Given the description of an element on the screen output the (x, y) to click on. 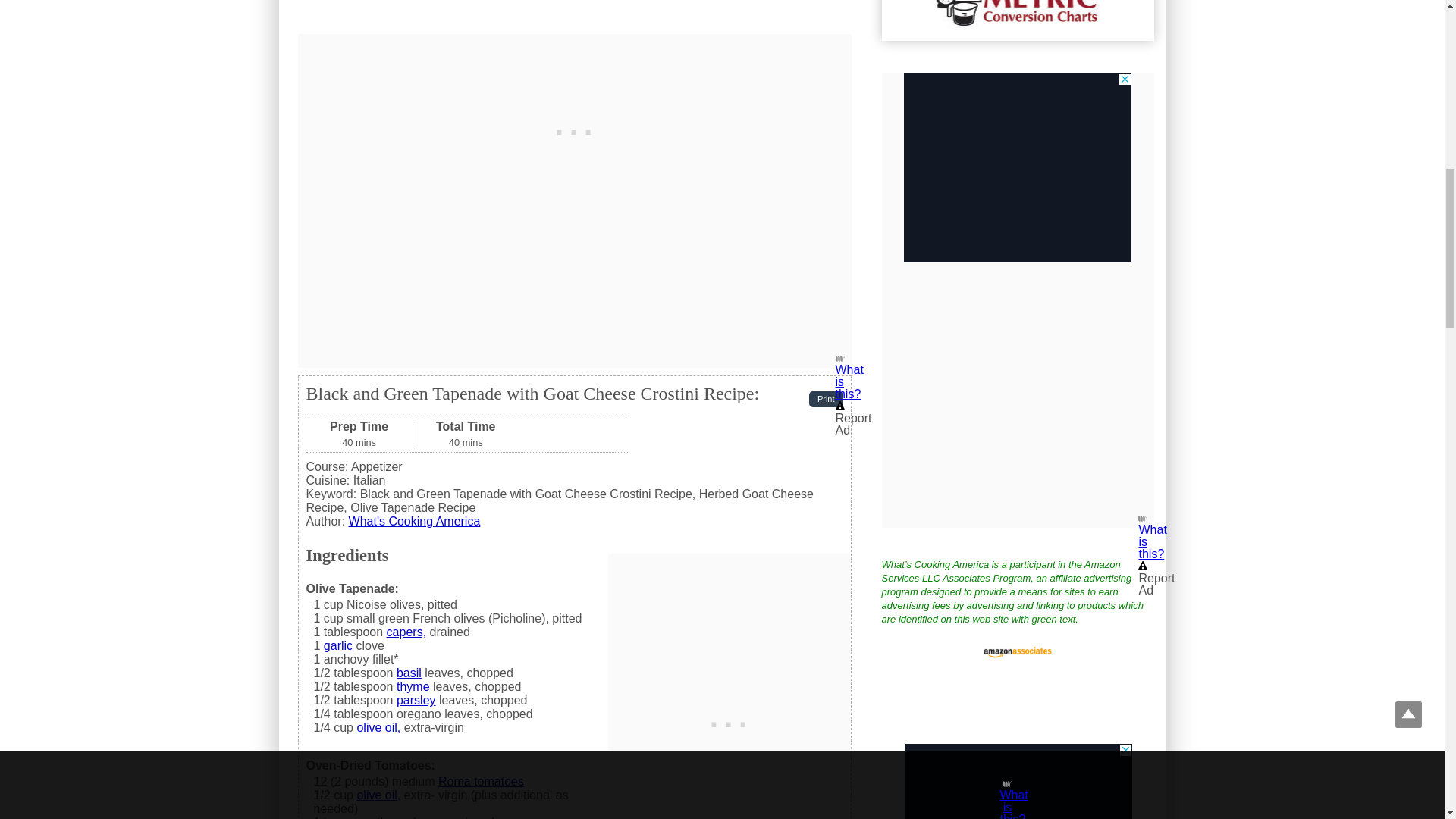
3rd party ad content (1017, 781)
3rd party ad content (574, 128)
3rd party ad content (1017, 167)
